Given the description of an element on the screen output the (x, y) to click on. 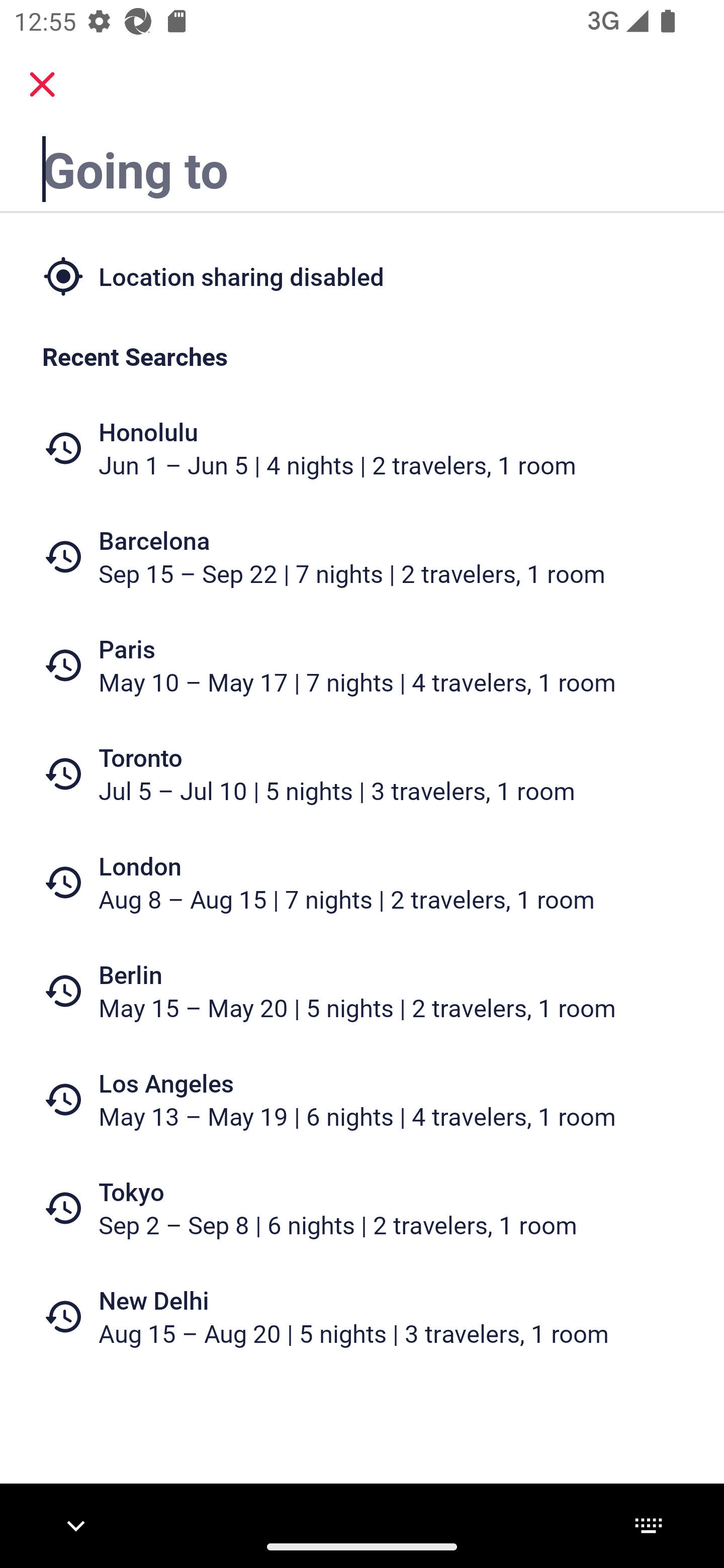
close. (42, 84)
Location sharing disabled (362, 275)
